Given the description of an element on the screen output the (x, y) to click on. 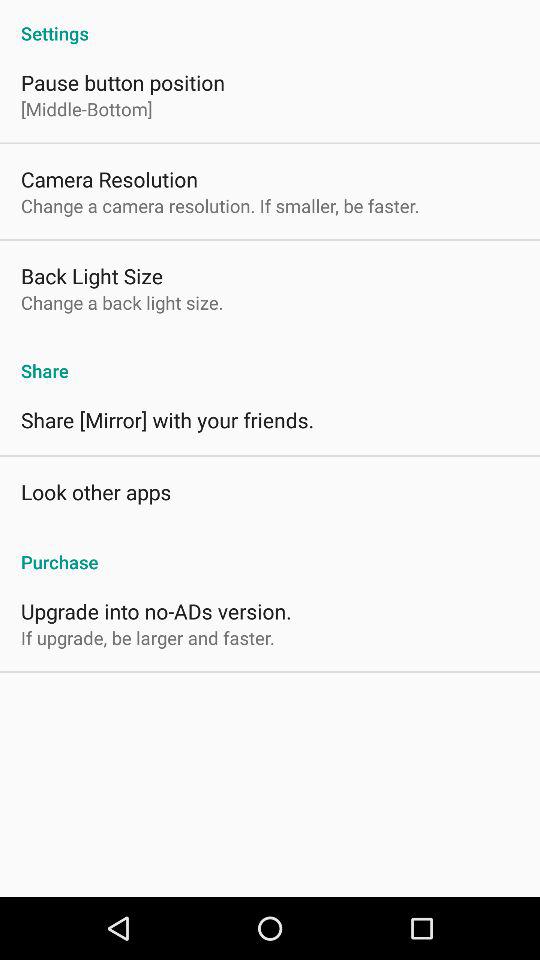
turn on the purchase app (270, 551)
